Given the description of an element on the screen output the (x, y) to click on. 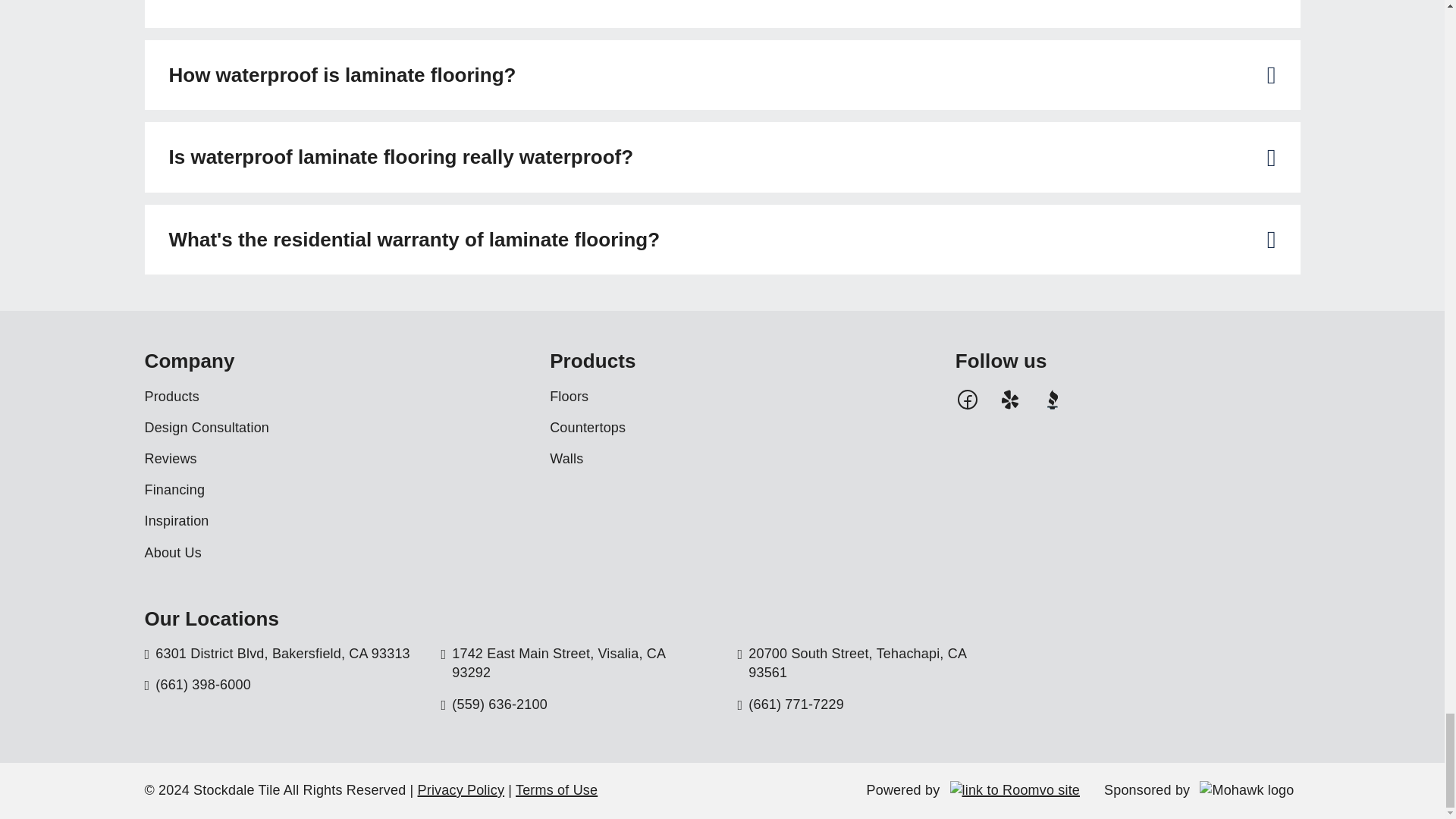
Stockdale Tile on Facebook (967, 397)
Stockdale Tile on Better Business Bureau (1052, 397)
Stockdale Tile on Yelp (1009, 397)
